Given the description of an element on the screen output the (x, y) to click on. 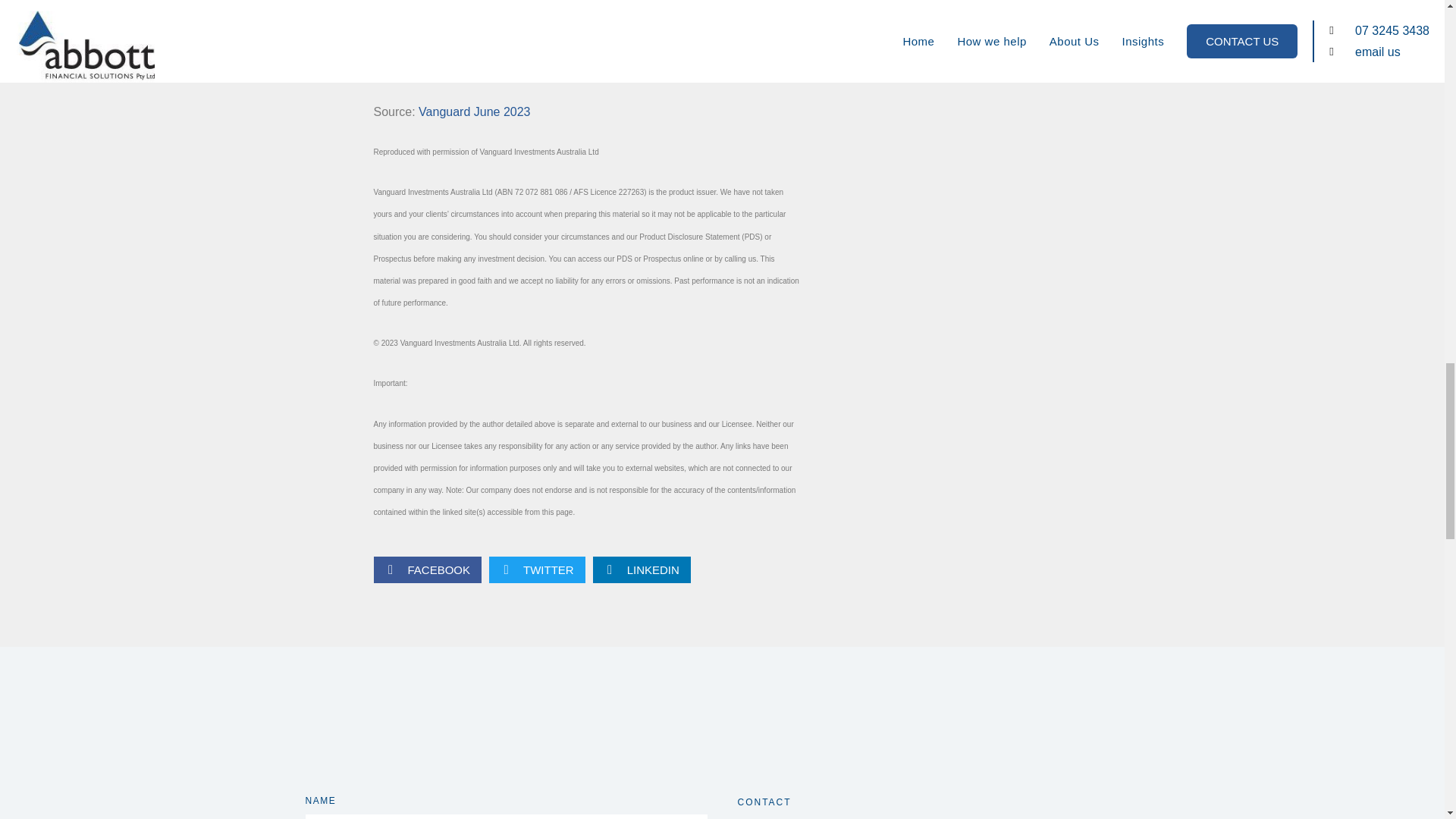
Vanguard June 2023 (474, 111)
